Given the description of an element on the screen output the (x, y) to click on. 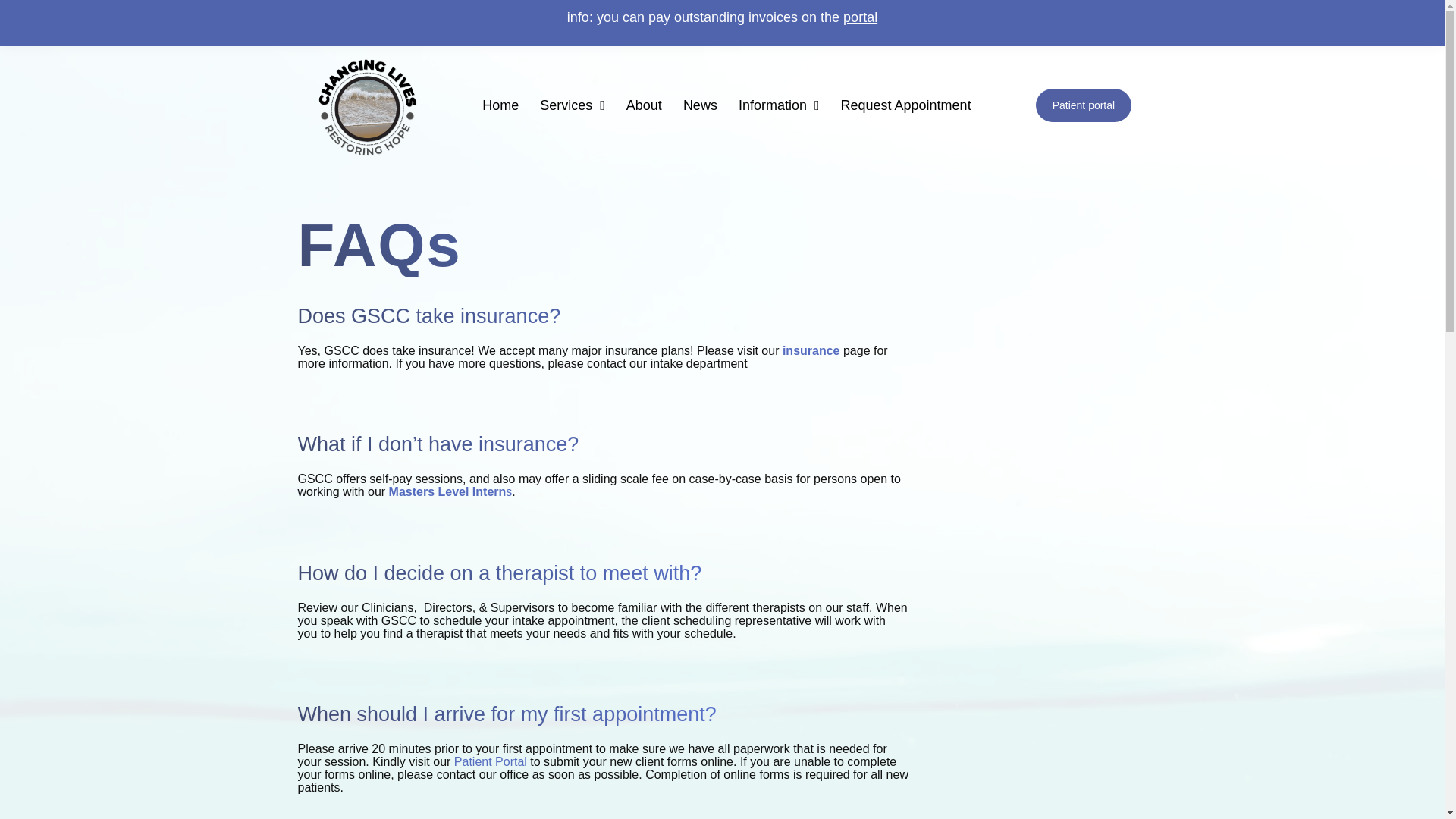
info: you can pay outstanding invoices on the portal (722, 17)
Home (500, 104)
insurance (811, 350)
Masters Level Interns (450, 491)
Patient portal (1083, 105)
Services (572, 104)
News (700, 104)
Information (778, 104)
About (643, 104)
Patient Portal (490, 761)
Request Appointment (905, 104)
